Given the description of an element on the screen output the (x, y) to click on. 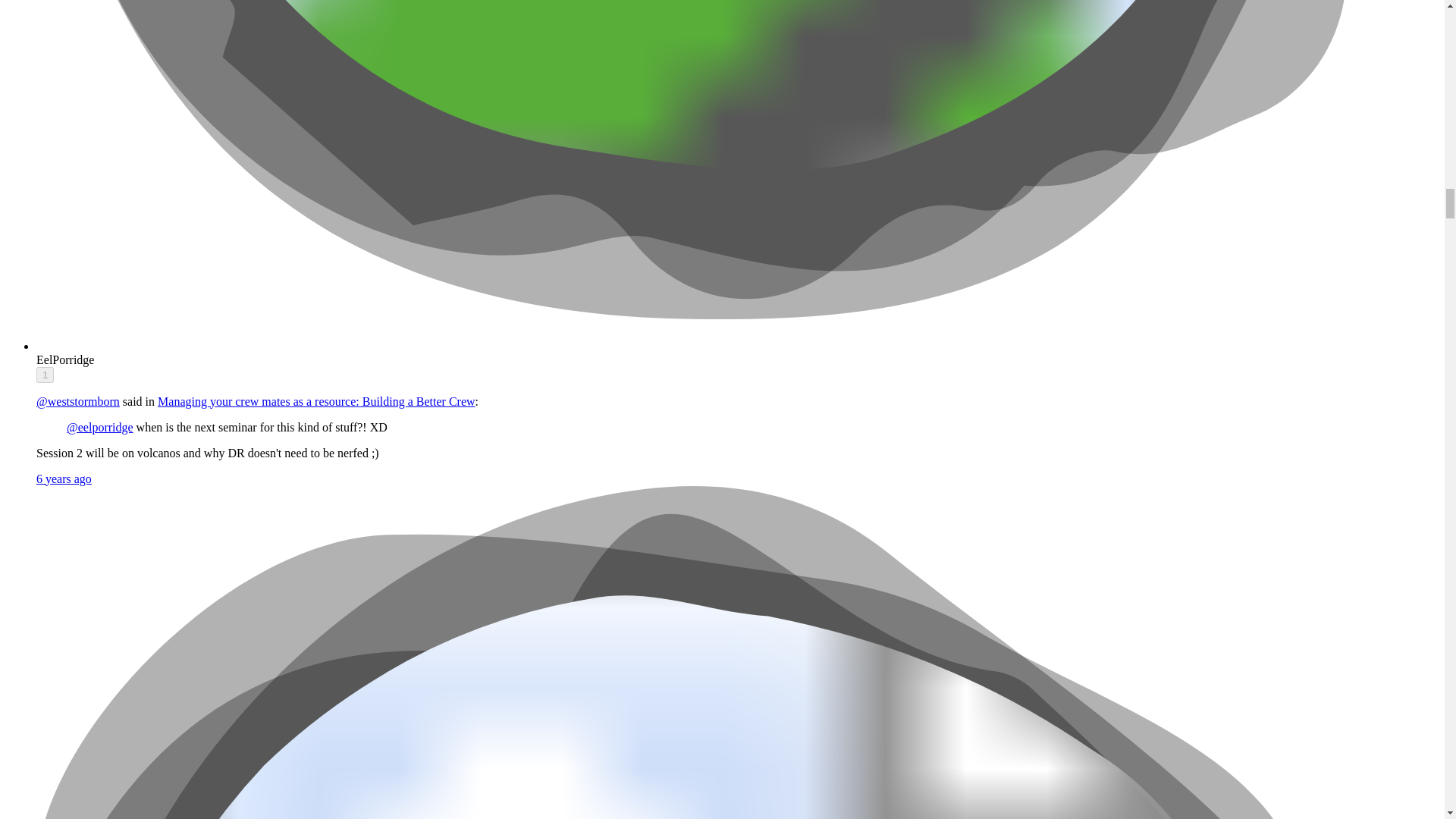
Show Voters (44, 374)
6 years ago (63, 478)
1 (44, 374)
